Given the description of an element on the screen output the (x, y) to click on. 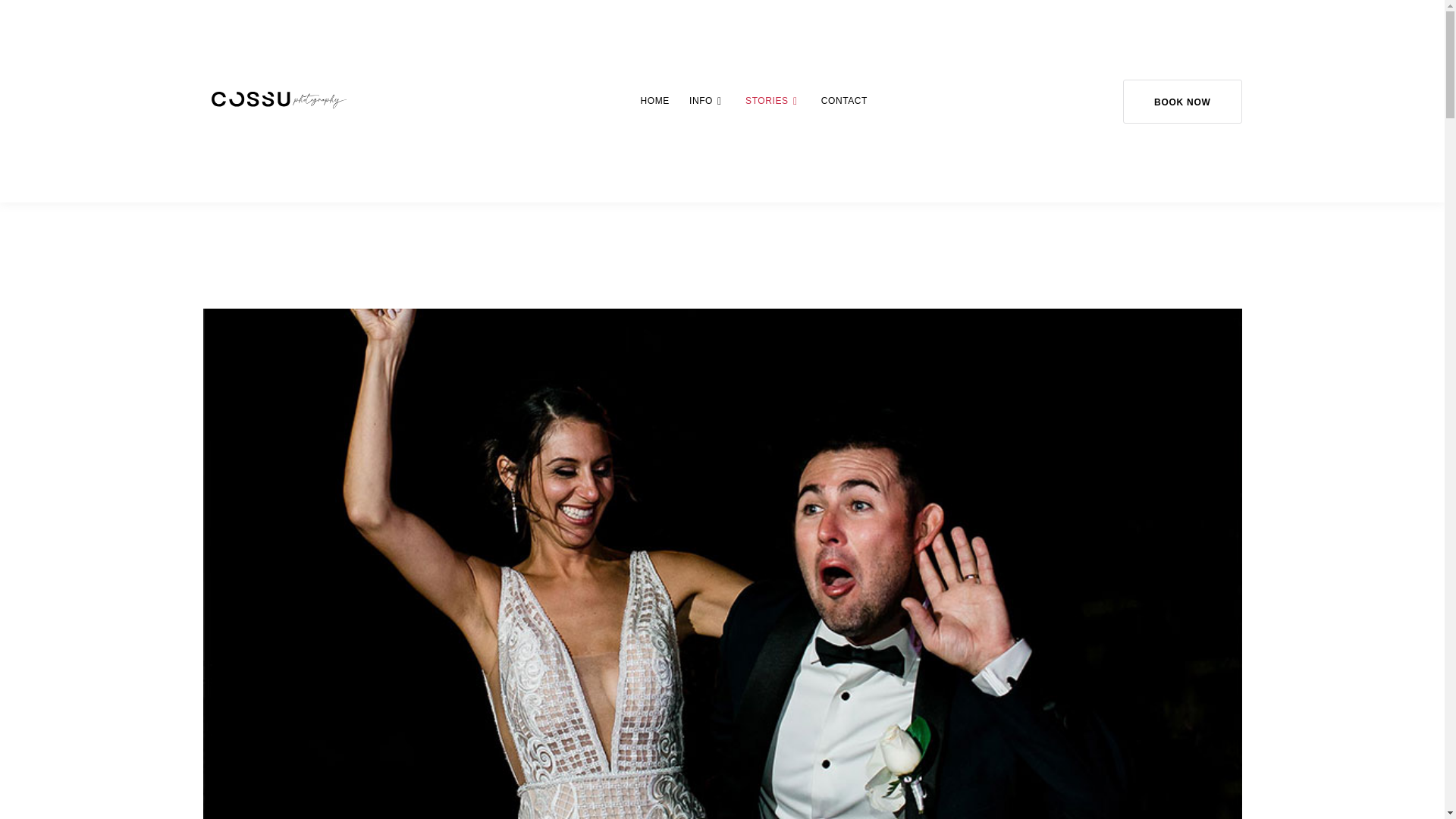
STORIES (767, 101)
BOOK NOW (1181, 100)
HOME (654, 101)
INFO (700, 101)
CONTACT (844, 101)
